Given the description of an element on the screen output the (x, y) to click on. 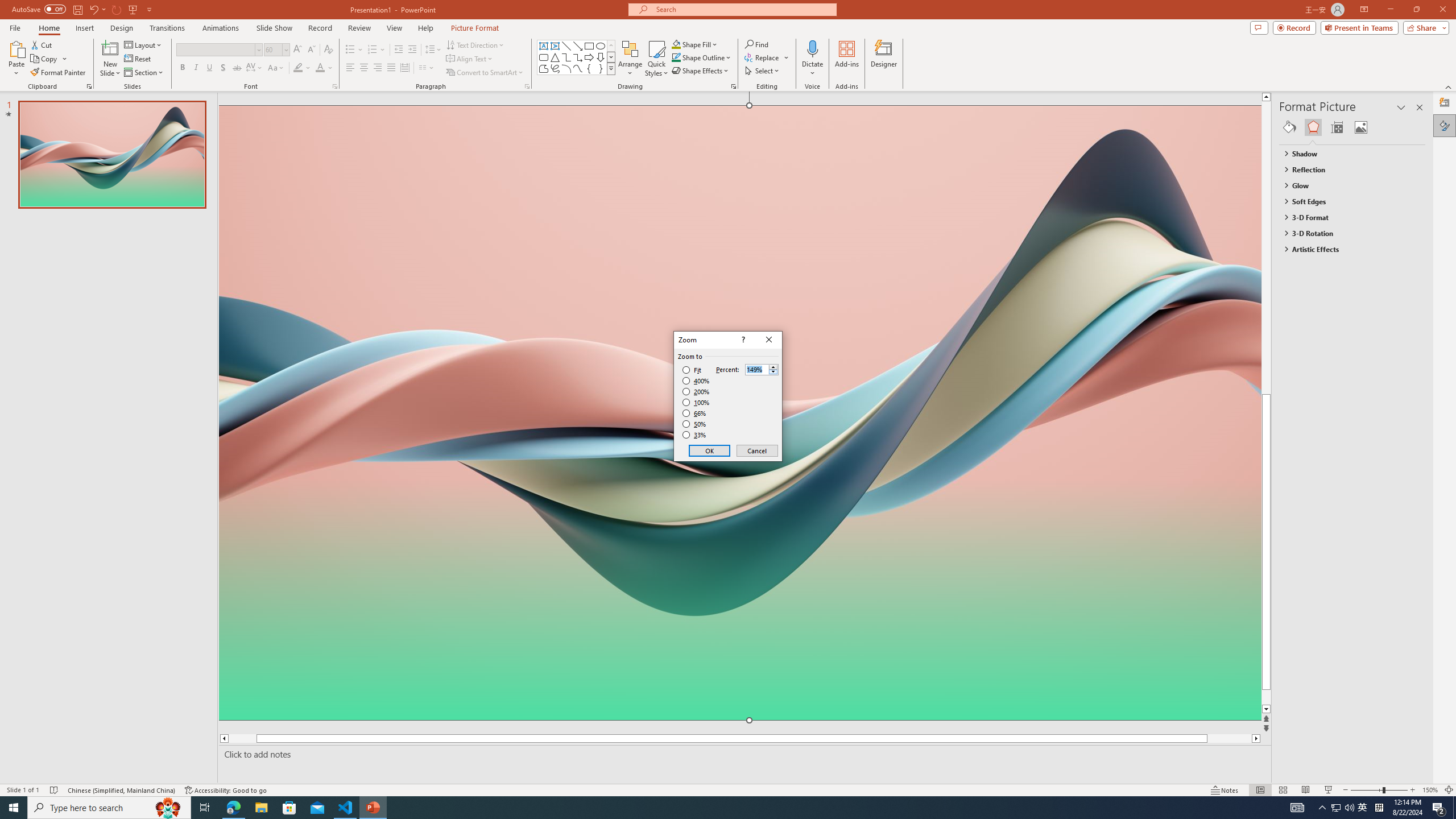
66% (694, 412)
400% (696, 380)
